Given the description of an element on the screen output the (x, y) to click on. 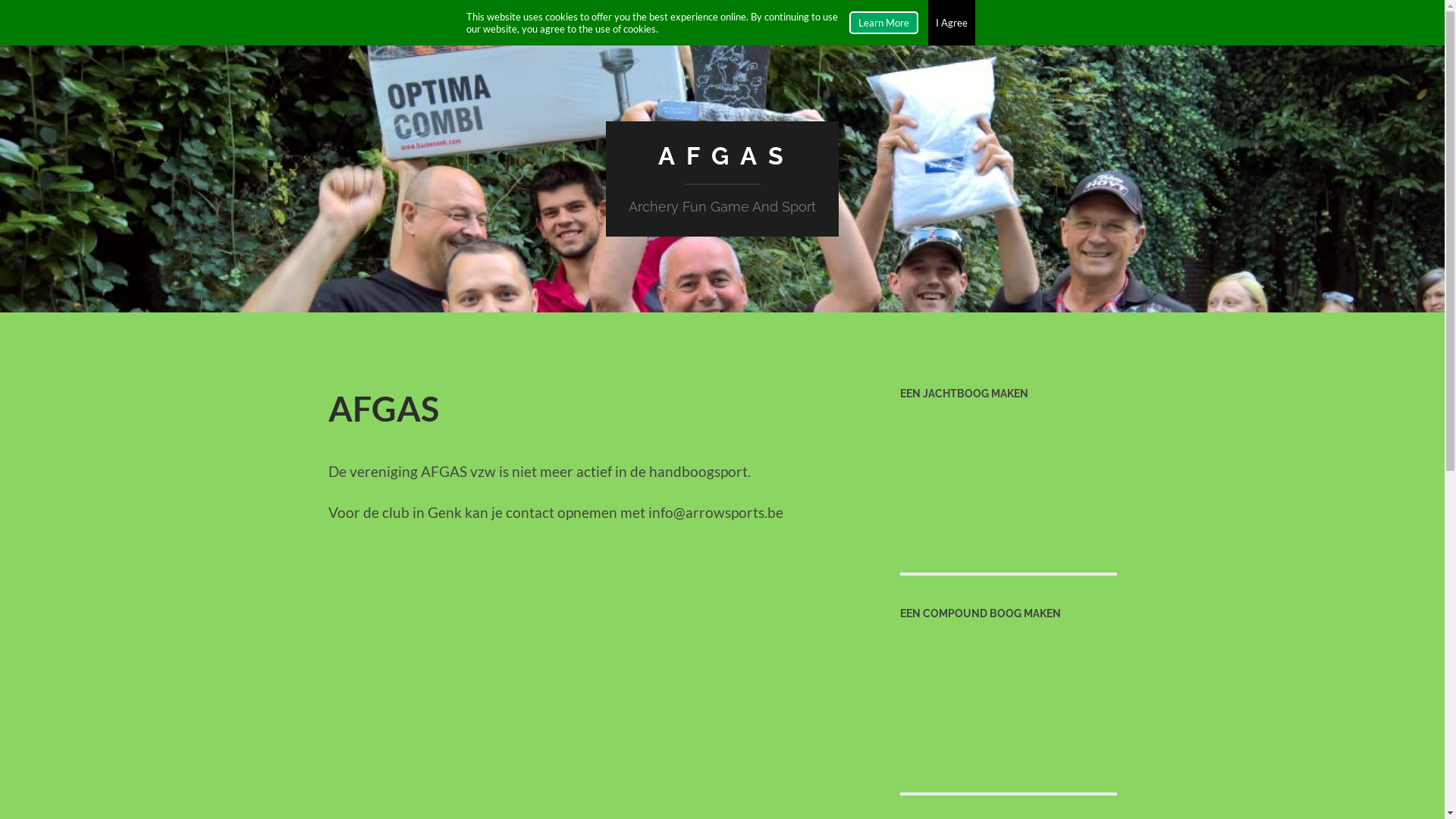
Alberti Archery Element type: hover (1007, 475)
Learn More Element type: text (883, 22)
Birth of a Bow - Building the Mybo Origin Compound Bow Element type: hover (1007, 694)
I Agree Element type: text (951, 22)
A F G A S Element type: text (722, 155)
